Given the description of an element on the screen output the (x, y) to click on. 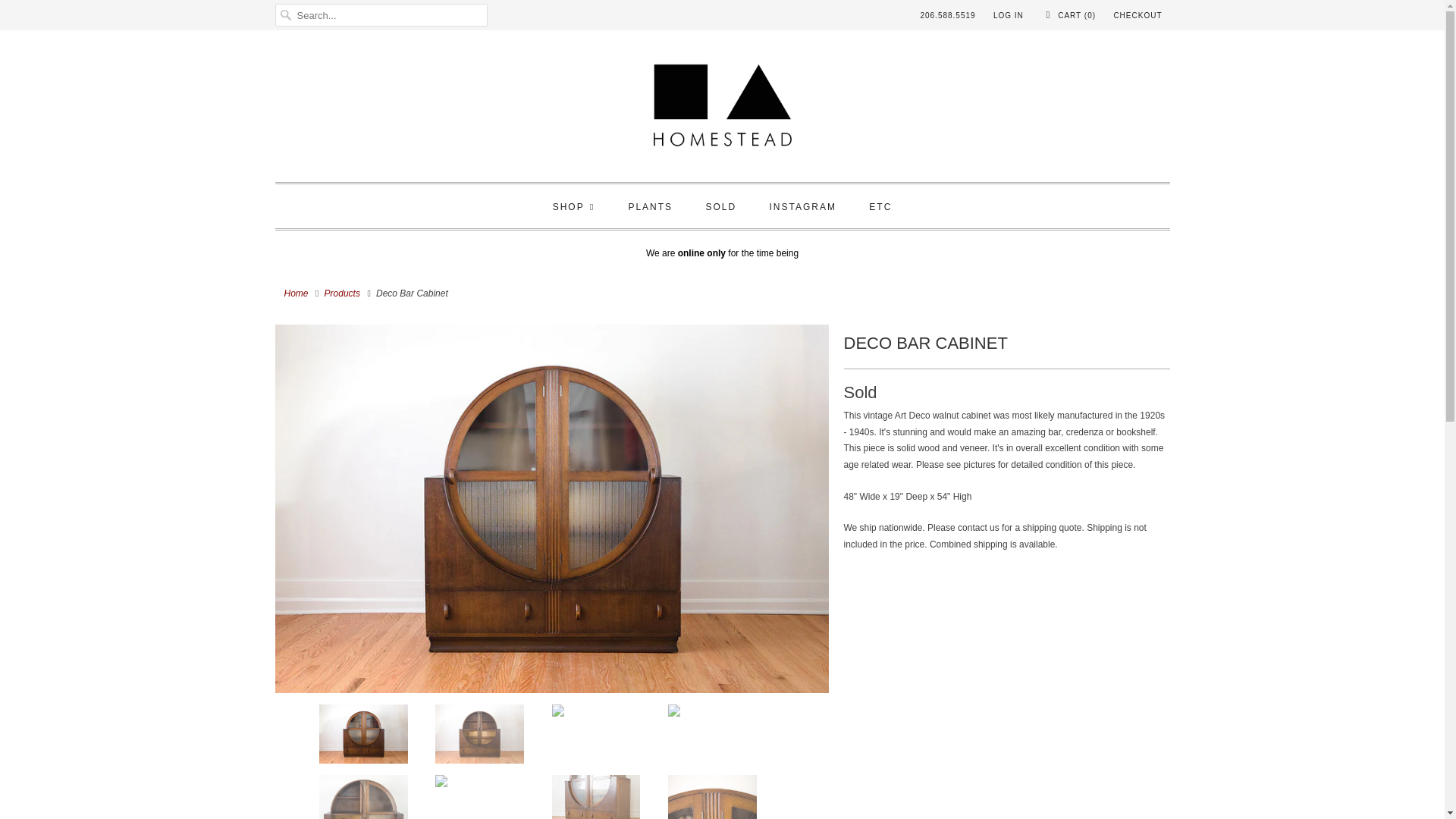
LOG IN (1007, 15)
PLANTS (649, 207)
Products (341, 293)
Products (341, 293)
ETC (880, 207)
INSTAGRAM (801, 207)
Homestead (721, 110)
SHOP (574, 207)
206.588.5519 (947, 15)
